Given the description of an element on the screen output the (x, y) to click on. 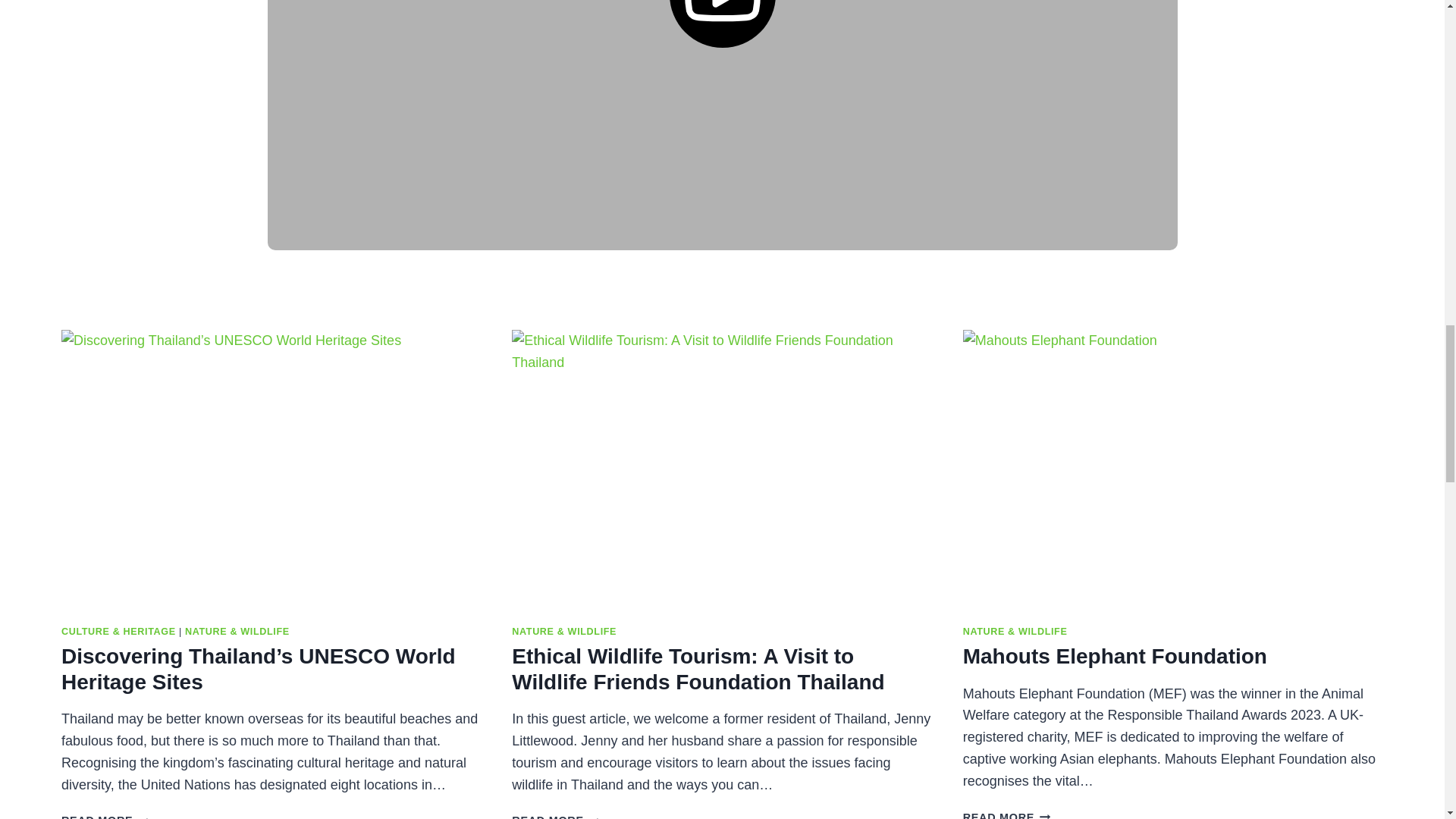
Mahouts Elephant Foundation (1114, 656)
